Given the description of an element on the screen output the (x, y) to click on. 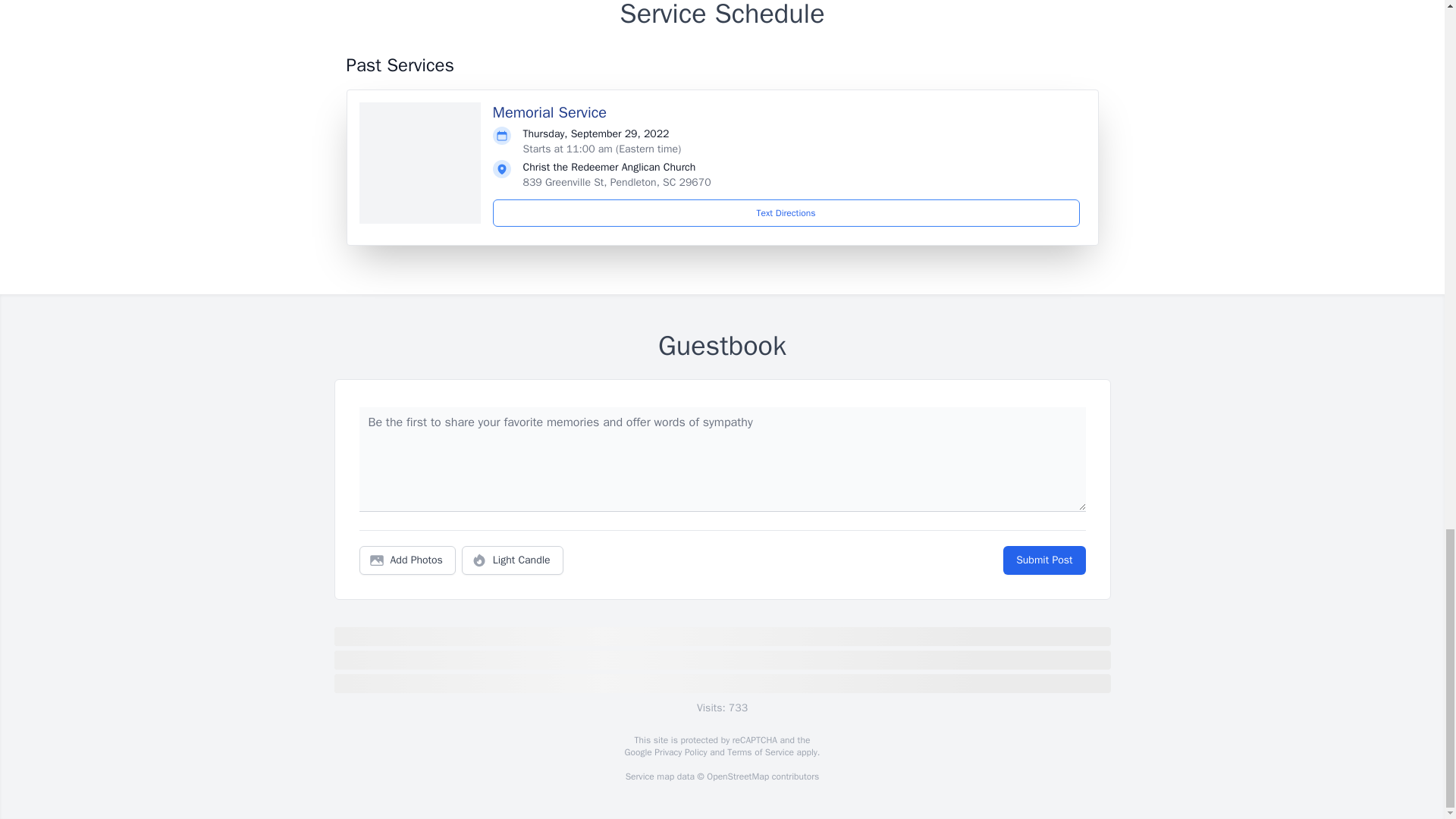
OpenStreetMap (737, 776)
Add Photos (407, 560)
Terms of Service (759, 752)
Submit Post (1043, 560)
Light Candle (512, 560)
839 Greenville St, Pendleton, SC 29670 (616, 182)
Text Directions (786, 212)
Privacy Policy (679, 752)
